Given the description of an element on the screen output the (x, y) to click on. 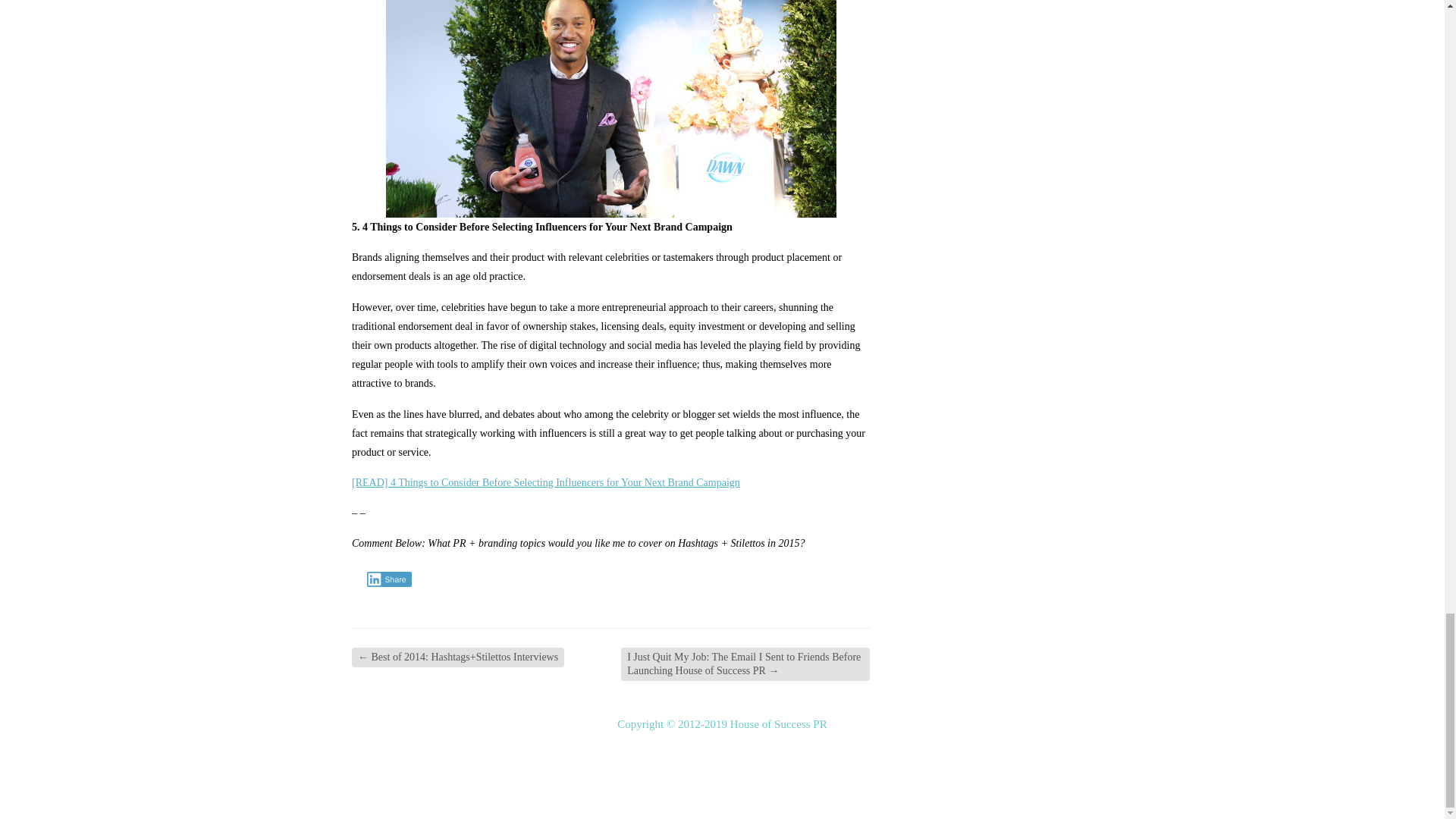
Share (389, 579)
